Given the description of an element on the screen output the (x, y) to click on. 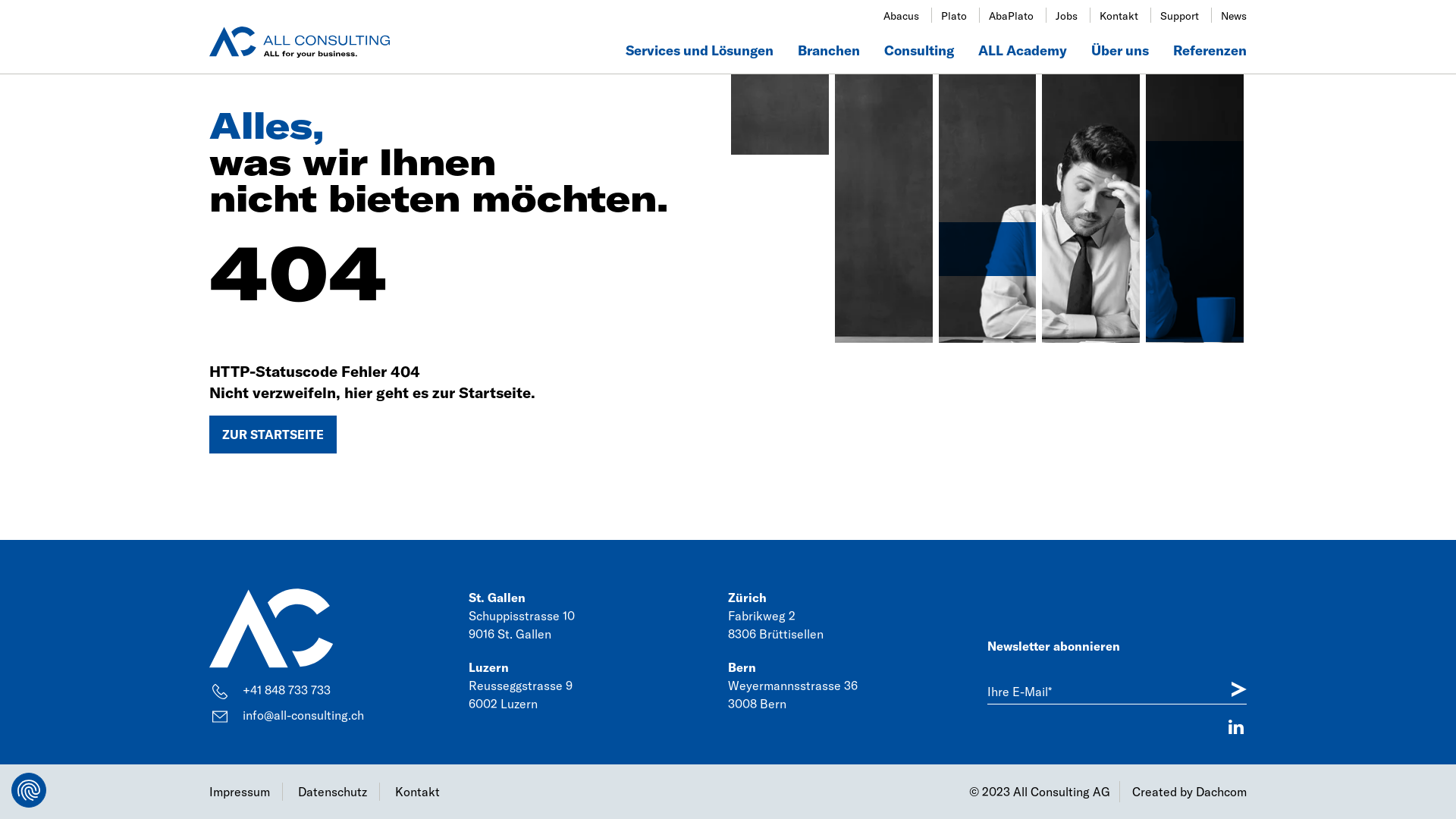
Support Element type: text (1179, 15)
News Element type: text (1233, 15)
Plato Element type: text (953, 15)
AbaPlato Element type: text (1010, 15)
Impressum Element type: text (245, 791)
Created by Dachcom Element type: text (1189, 791)
info@all-consulting.ch Element type: text (338, 715)
ZUR STARTSEITE Element type: text (272, 434)
Kontakt Element type: text (423, 791)
Kontakt Element type: text (1118, 15)
Datenschutz Element type: text (338, 791)
Consulting Element type: text (918, 52)
+41 848 733 733 Element type: text (338, 689)
ALL Academy Element type: text (1022, 52)
Abacus Element type: text (901, 15)
Jobs Element type: text (1066, 15)
Datenschutzeinstellungen Element type: hover (28, 789)
Branchen Element type: text (828, 52)
Referenzen Element type: text (1209, 52)
